Given the description of an element on the screen output the (x, y) to click on. 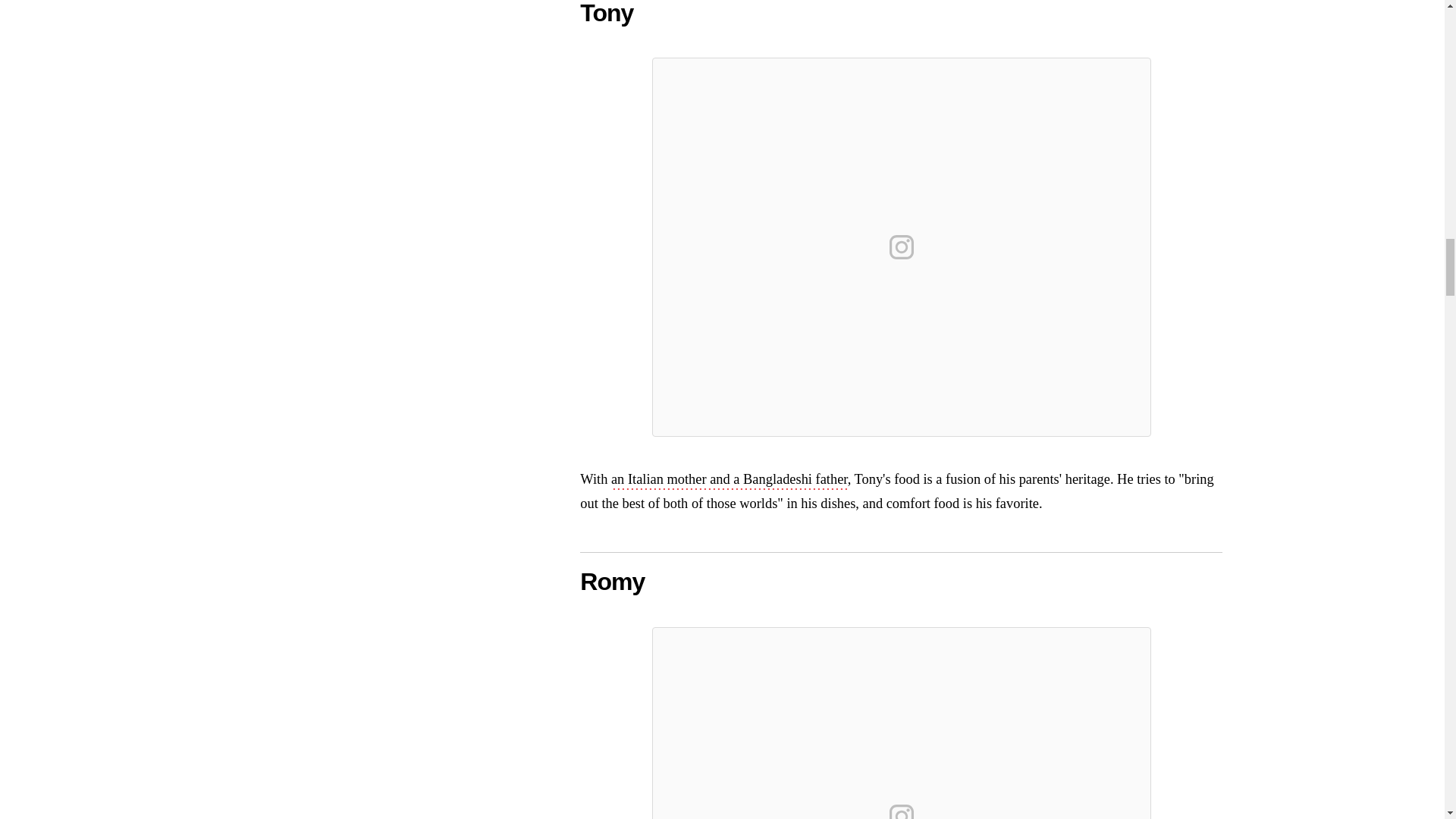
View on Instagram (901, 247)
an Italian mother and a Bangladeshi father (729, 480)
View on Instagram (901, 808)
